Given the description of an element on the screen output the (x, y) to click on. 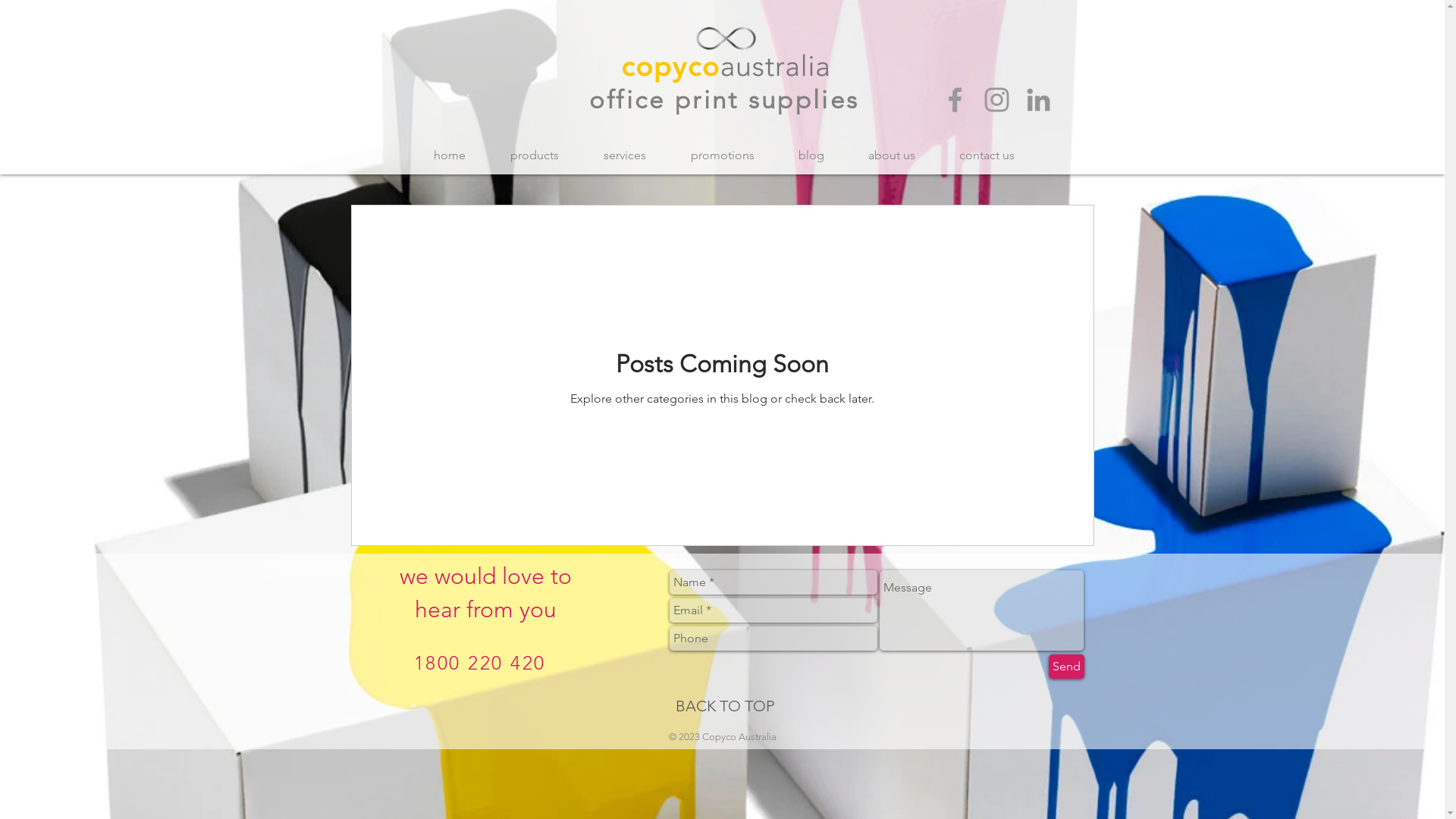
services Element type: text (624, 155)
BACK TO TOP Element type: text (724, 705)
promotions Element type: text (722, 155)
products Element type: text (534, 155)
home Element type: text (449, 155)
Send Element type: text (1065, 666)
about us Element type: text (891, 155)
CopyCo Australia Element type: hover (725, 54)
contact us Element type: text (986, 155)
blog Element type: text (811, 155)
